Given the description of an element on the screen output the (x, y) to click on. 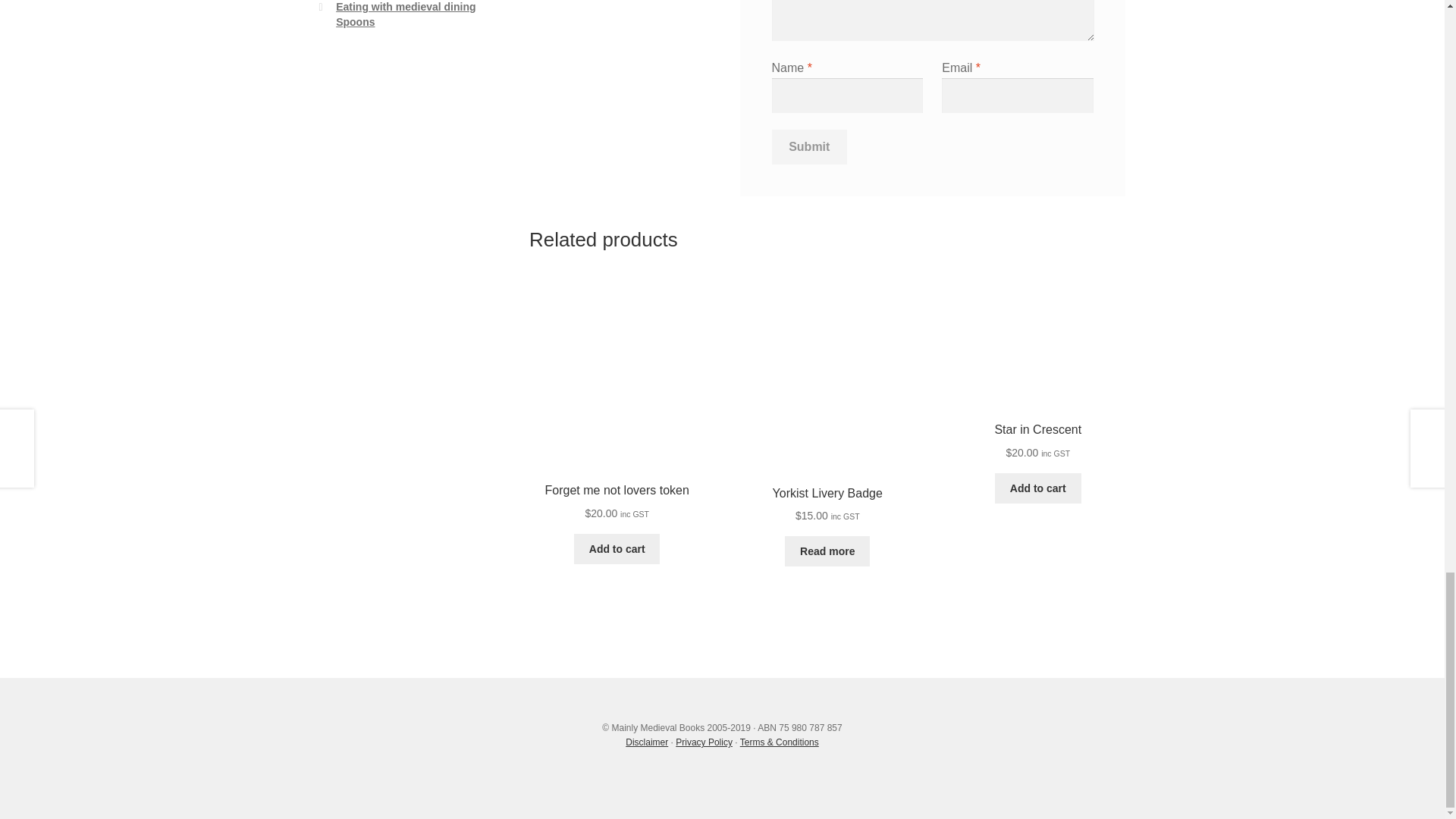
Submit (809, 146)
